Given the description of an element on the screen output the (x, y) to click on. 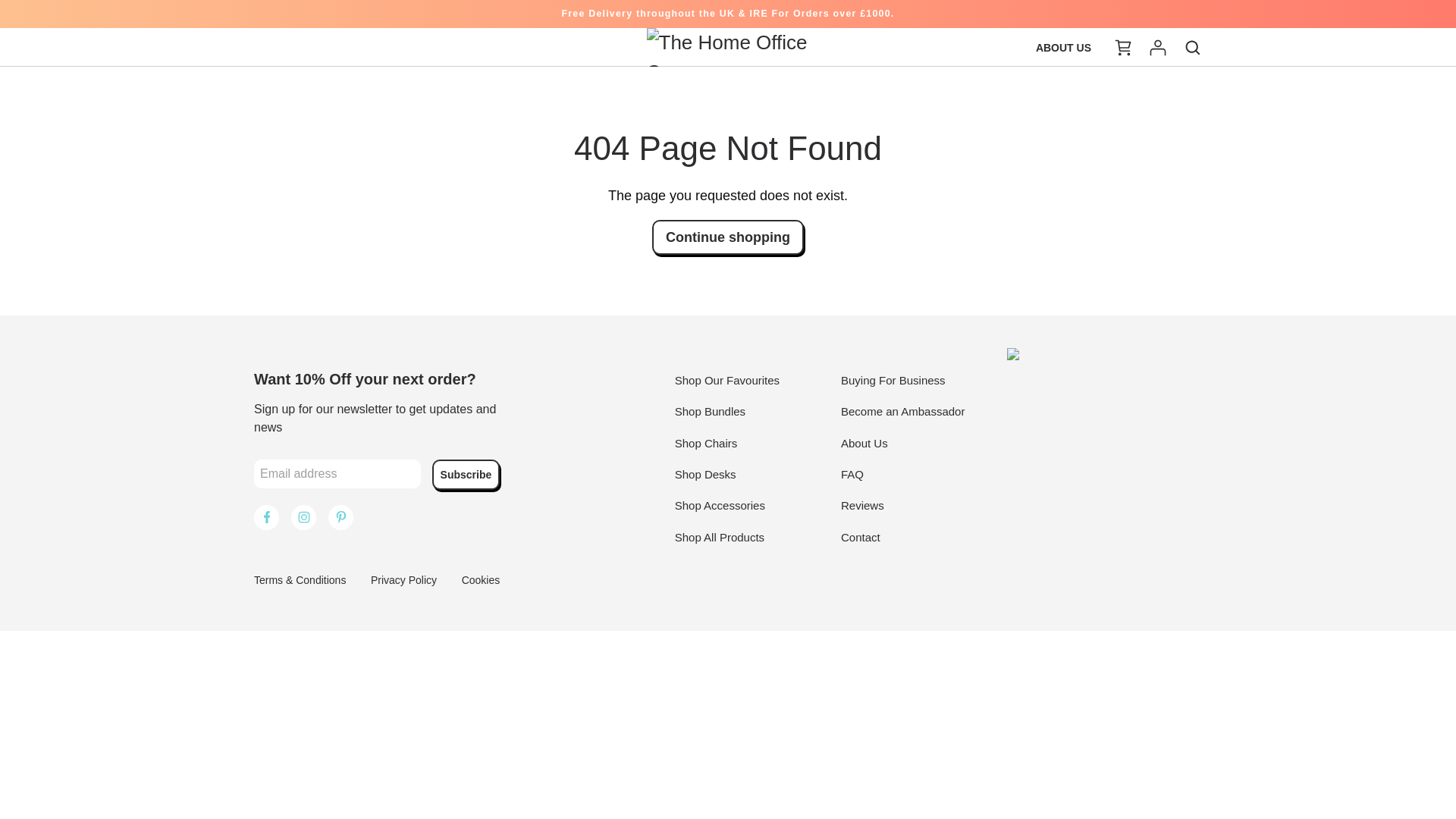
Cookies (480, 580)
Shop Bundles (710, 410)
Shop Our Favourites (726, 379)
ABOUT US (1062, 47)
Shop Desks (705, 473)
Shop Chairs (706, 442)
Subscribe (466, 474)
Continue shopping (727, 237)
Privacy Policy (403, 580)
